Given the description of an element on the screen output the (x, y) to click on. 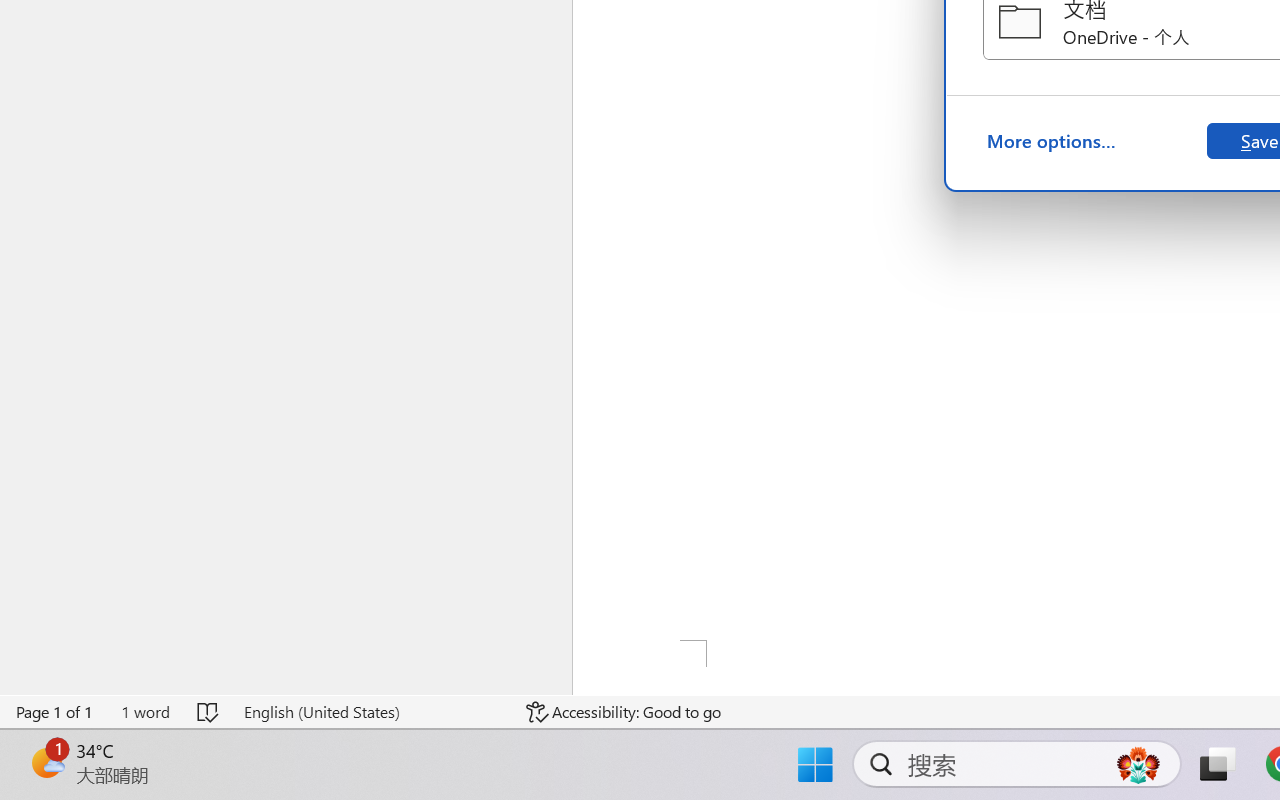
Language English (United States) (370, 712)
Accessibility Checker Accessibility: Good to go (623, 712)
Spelling and Grammar Check No Errors (208, 712)
AutomationID: DynamicSearchBoxGleamImage (1138, 764)
Page Number Page 1 of 1 (55, 712)
Word Count 1 word (145, 712)
AutomationID: BadgeAnchorLargeTicker (46, 762)
